Given the description of an element on the screen output the (x, y) to click on. 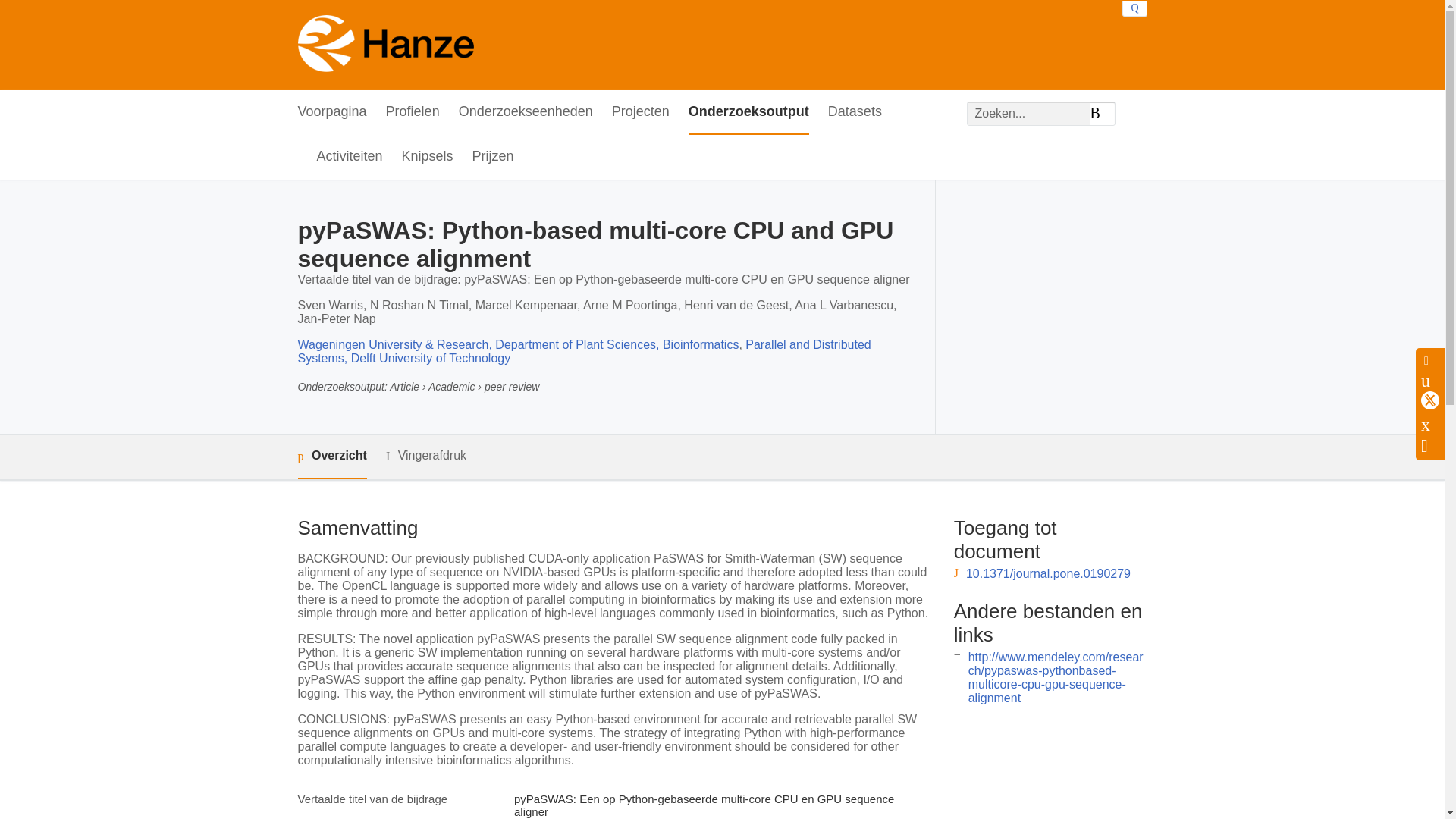
Profielen (412, 112)
Datasets (855, 112)
Vingerafdruk (425, 455)
Hanze Voorpagina (385, 45)
Onderzoeksoutput (748, 112)
Overzicht (331, 456)
Prijzen (492, 157)
Voorpagina (331, 112)
